Given the description of an element on the screen output the (x, y) to click on. 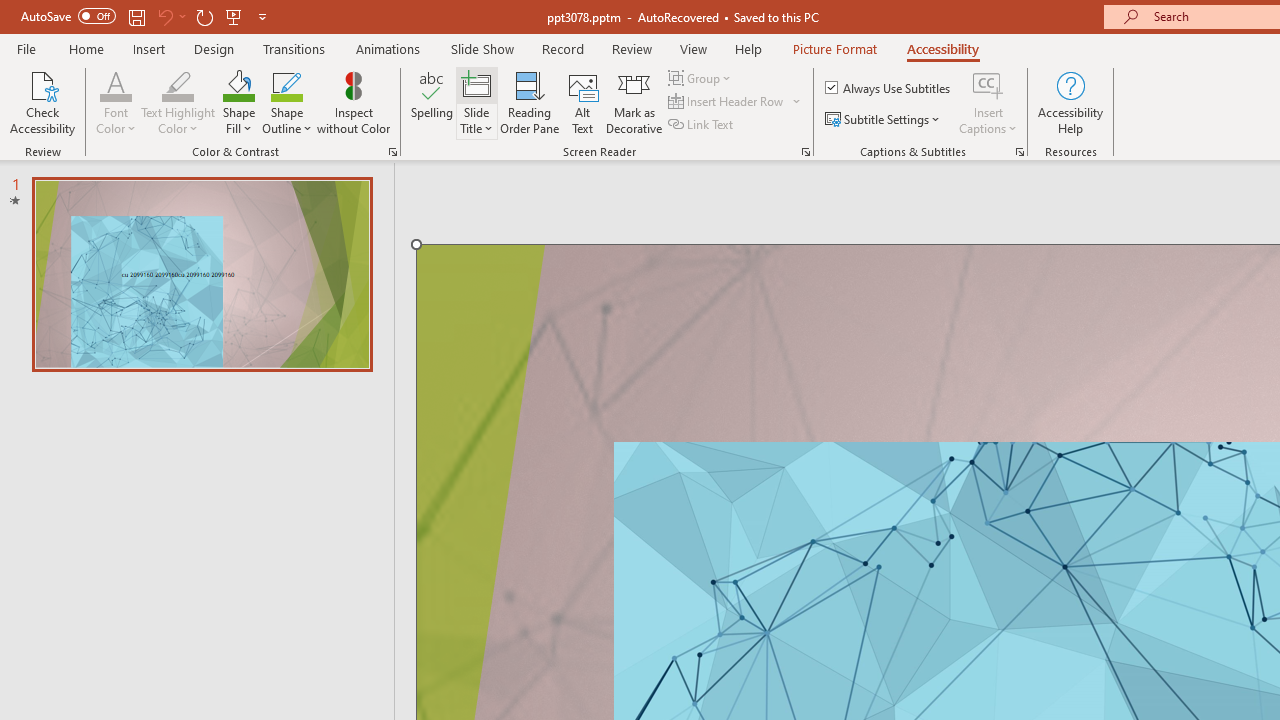
Group (701, 78)
